Given the description of an element on the screen output the (x, y) to click on. 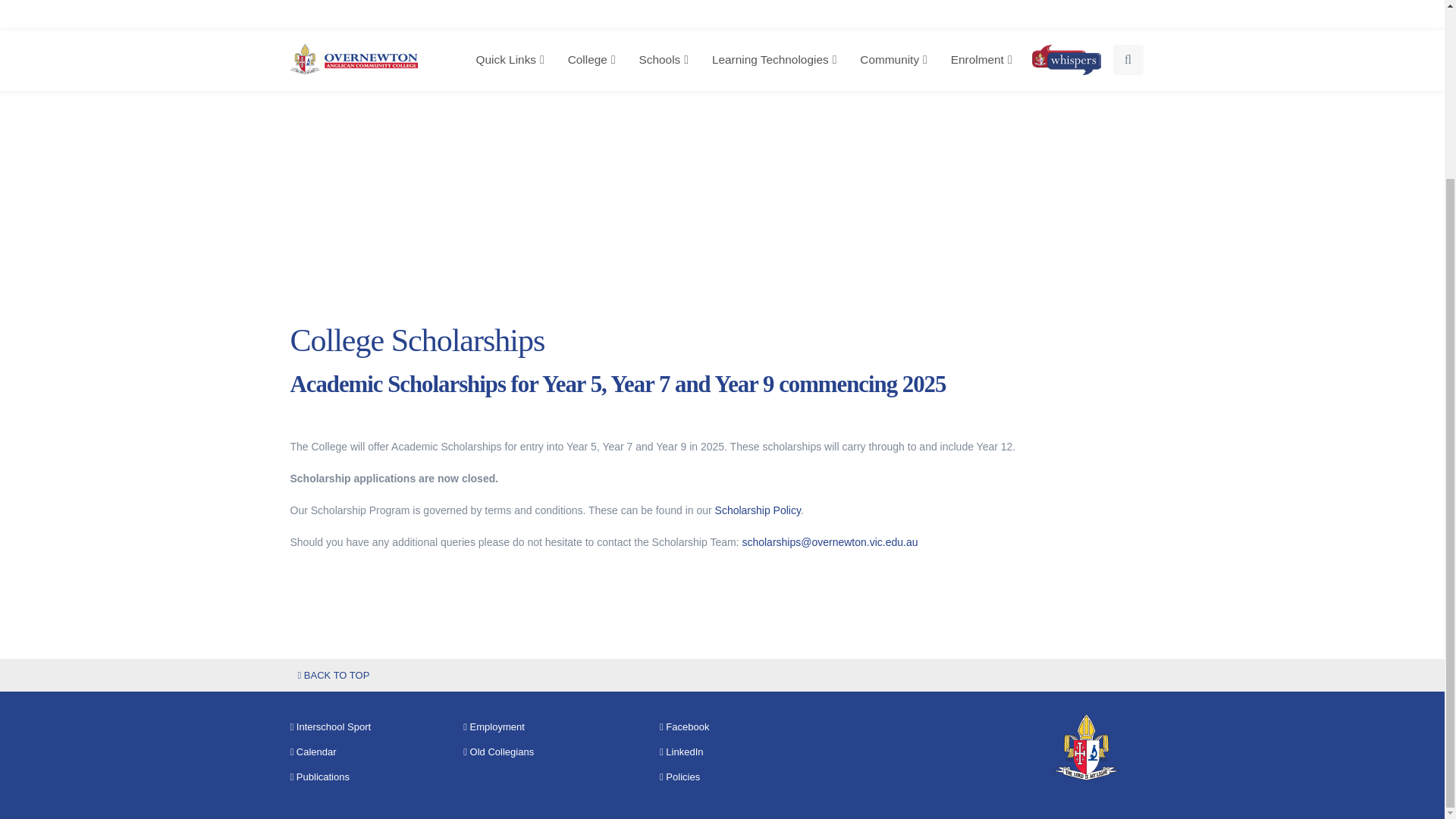
Scholarship Policy (757, 510)
